Given the description of an element on the screen output the (x, y) to click on. 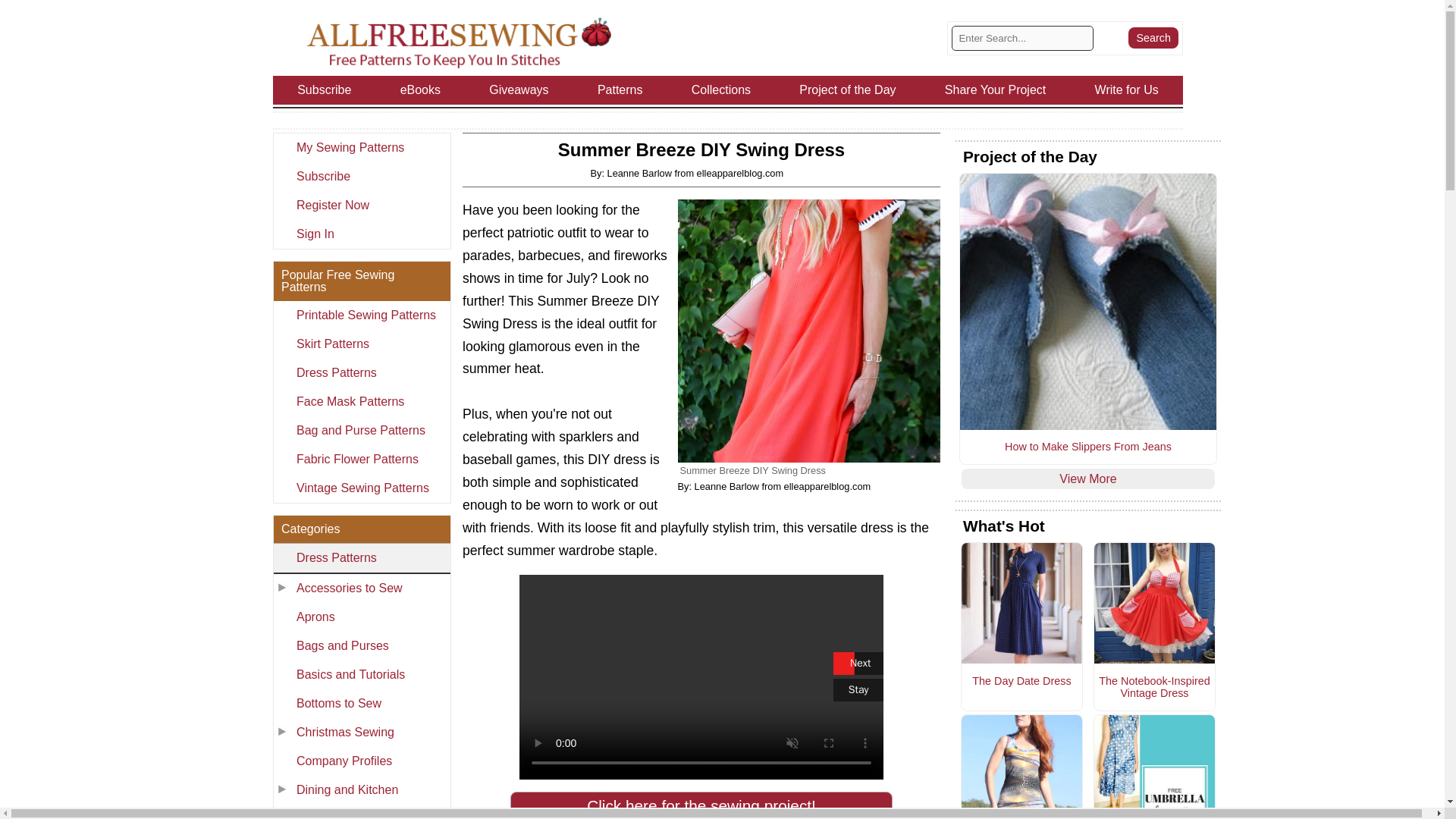
Register Now (361, 205)
Search (1152, 37)
Subscribe (361, 176)
Summer Breeze DIY Swing Dress (809, 330)
My Sewing Patterns (361, 147)
Sign In (361, 234)
